Given the description of an element on the screen output the (x, y) to click on. 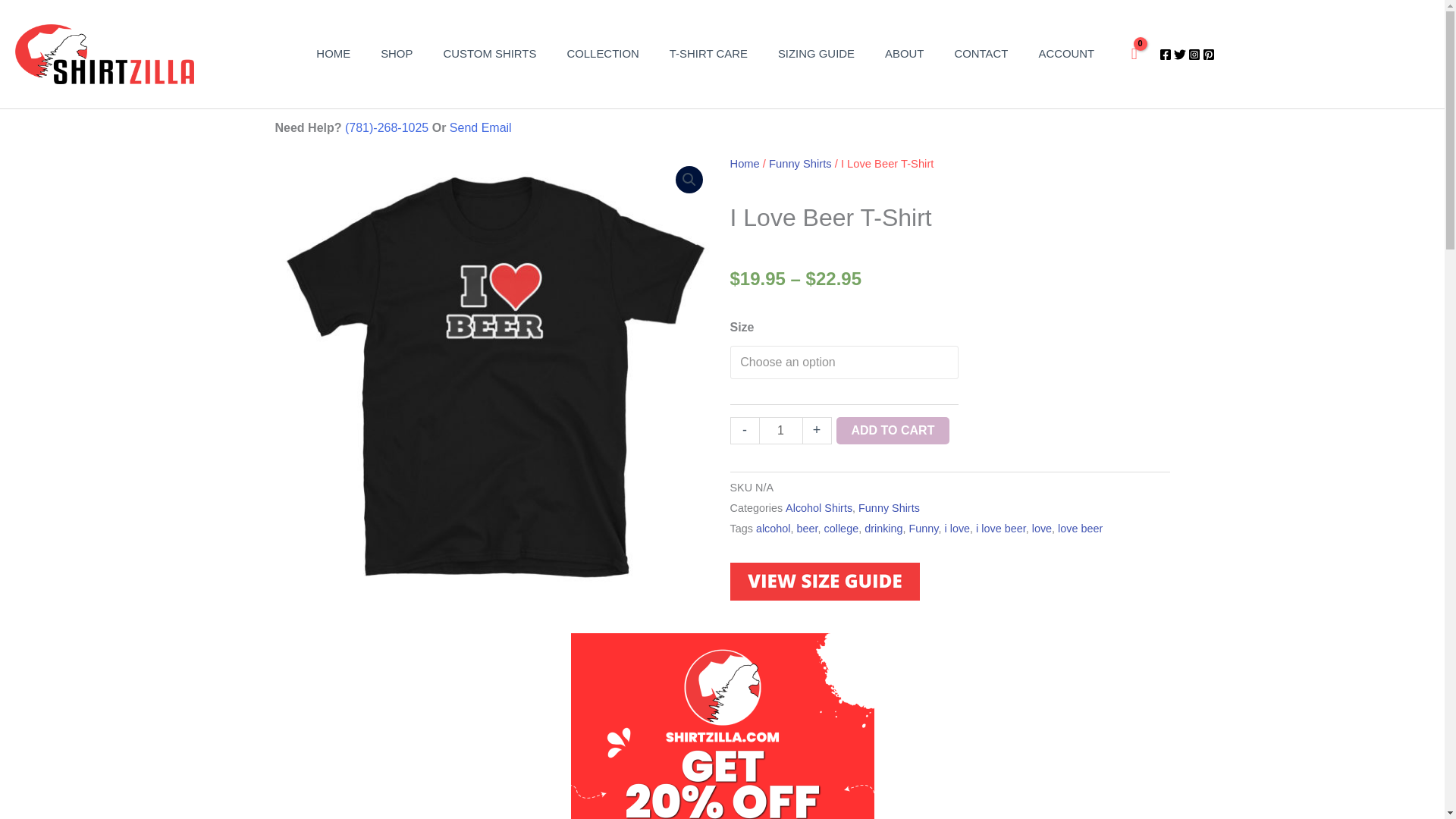
ACCOUNT (1066, 53)
1 (780, 430)
SHOP (396, 53)
ADD TO CART (892, 430)
HOME (333, 53)
Account (1066, 53)
Send Email (480, 127)
CUSTOM SHIRTS (489, 53)
COLLECTION (602, 53)
SIZING GUIDE (815, 53)
CONTACT (981, 53)
T-SHIRT CARE (707, 53)
Home (743, 163)
ABOUT (904, 53)
